Given the description of an element on the screen output the (x, y) to click on. 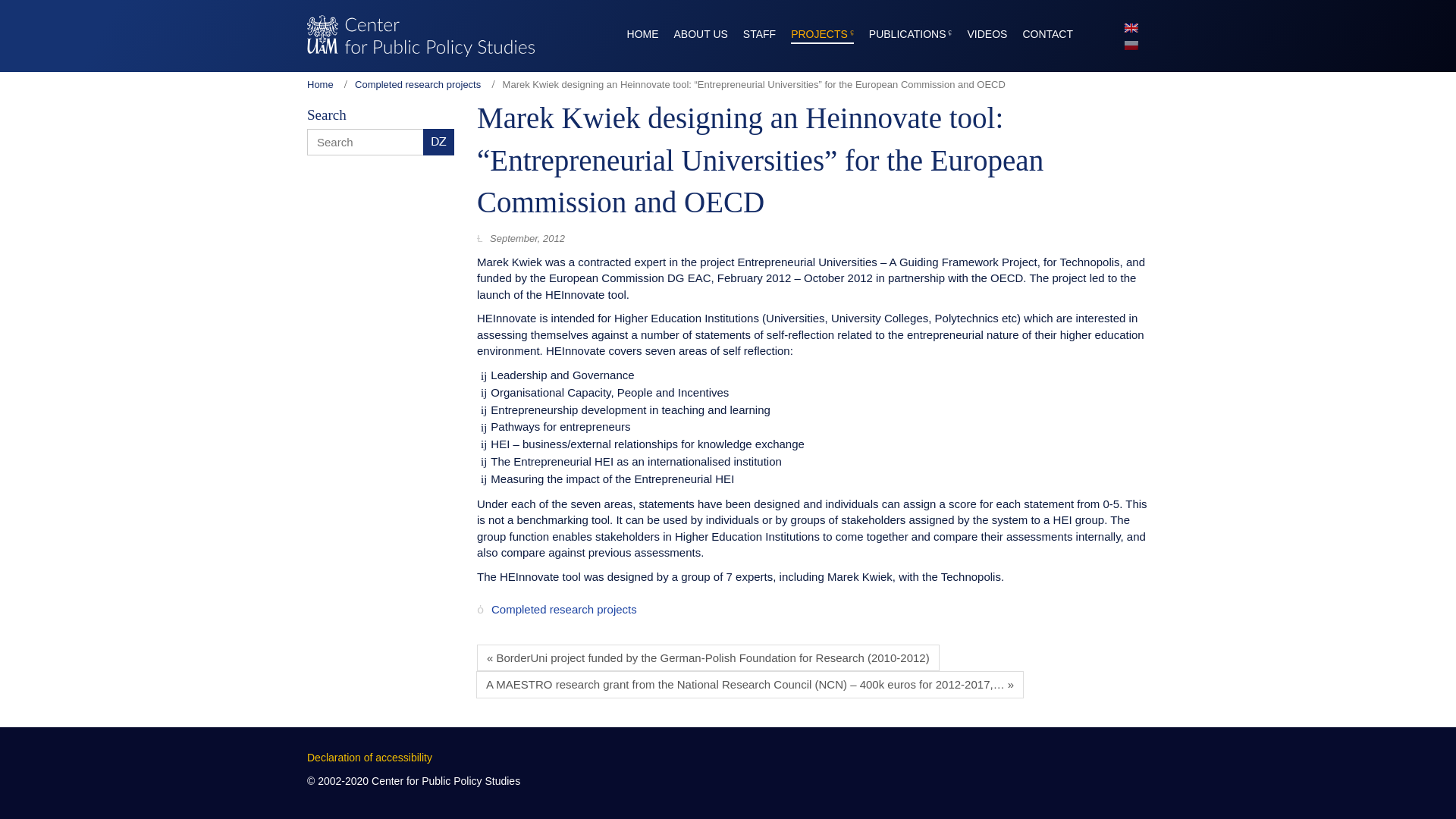
Completed research projects (417, 84)
PROJECTS (821, 31)
CONTACT (1047, 31)
PUBLICATIONS (910, 31)
STAFF (759, 31)
Declaration of accessibility (369, 757)
Completed research projects (417, 84)
Completed research projects (564, 609)
HOME (643, 31)
ABOUT US (701, 31)
